Given the description of an element on the screen output the (x, y) to click on. 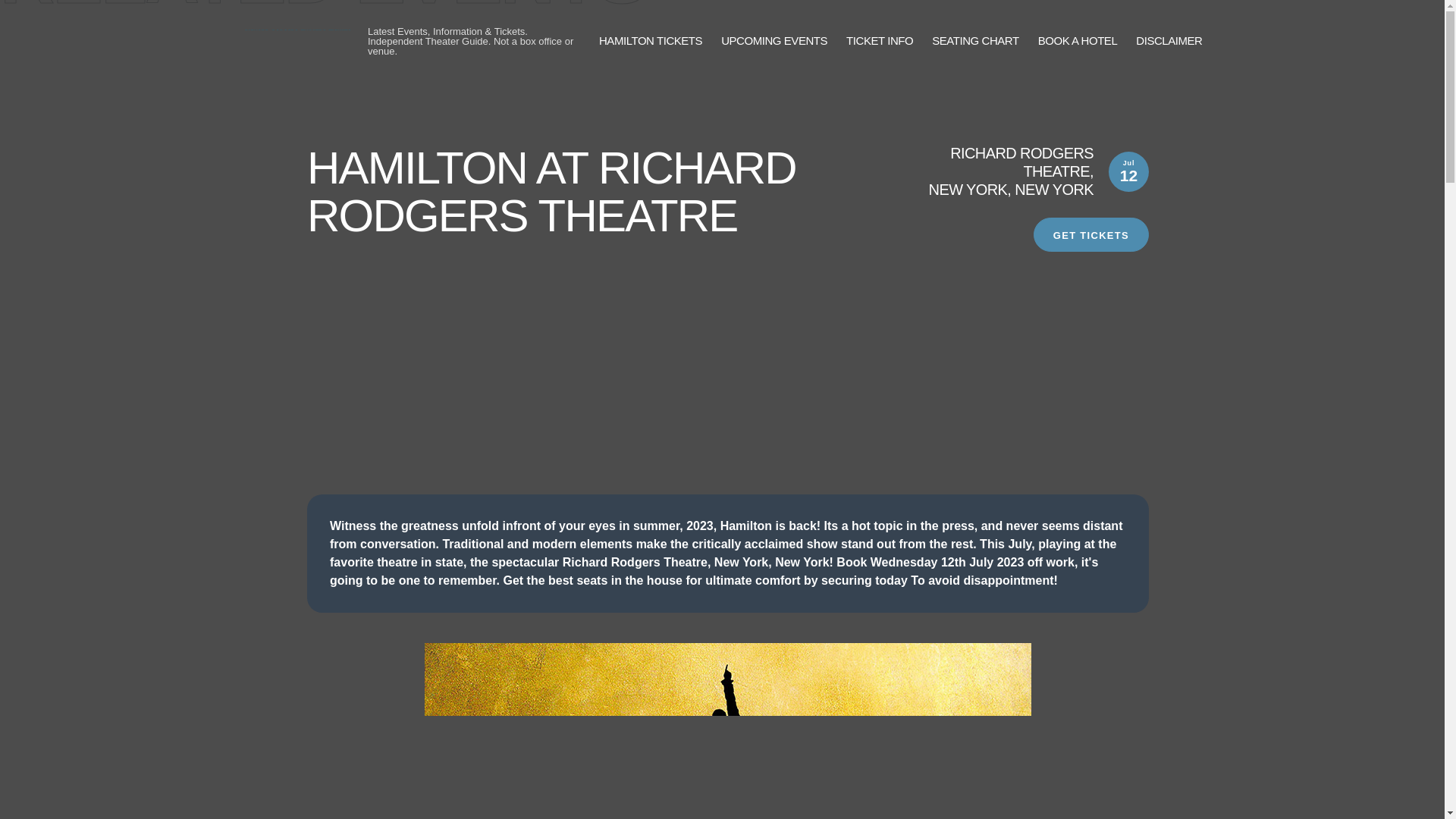
BOOK A HOTEL (1078, 40)
TICKET INFO (878, 40)
GET TICKETS (1090, 234)
DISCLAIMER (1168, 40)
HAMILTON TICKETS (649, 40)
SEATING CHART (974, 40)
Hamilton at Richard Rodgers Theatre (727, 730)
UPCOMING EVENTS (773, 40)
